Given the description of an element on the screen output the (x, y) to click on. 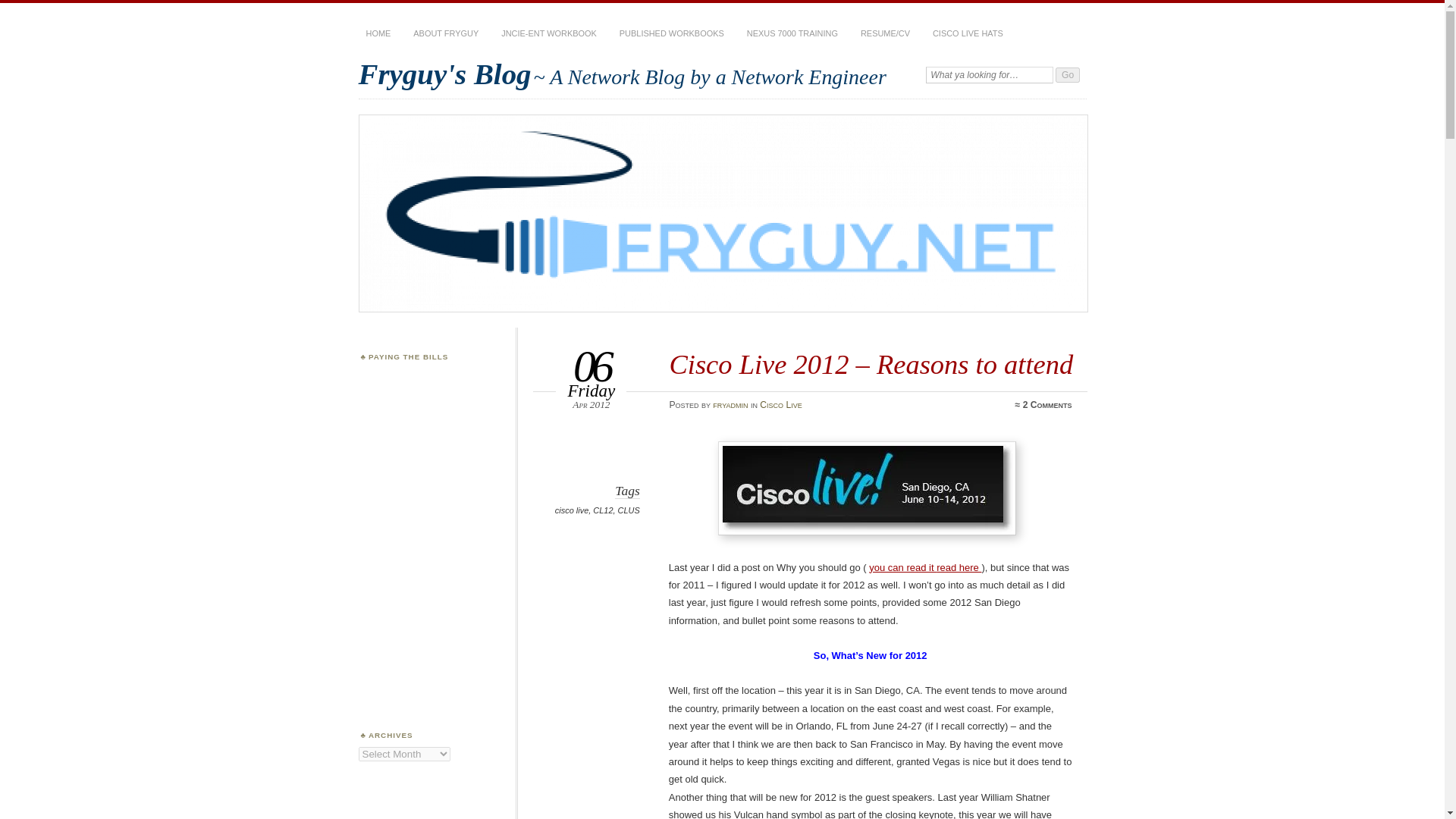
JNCIE-ENT WORKBOOK (548, 33)
cisco live (571, 510)
Advertisement (433, 635)
read here (958, 567)
Cisco Live (781, 404)
CL12 (602, 510)
ABOUT FRYGUY (446, 33)
Advertisement (433, 444)
Fryguy's Blog (444, 73)
Go (1067, 74)
you can read it (902, 567)
HOME (377, 33)
2 Comments (1047, 404)
View all posts by fryadmin (730, 404)
